Given the description of an element on the screen output the (x, y) to click on. 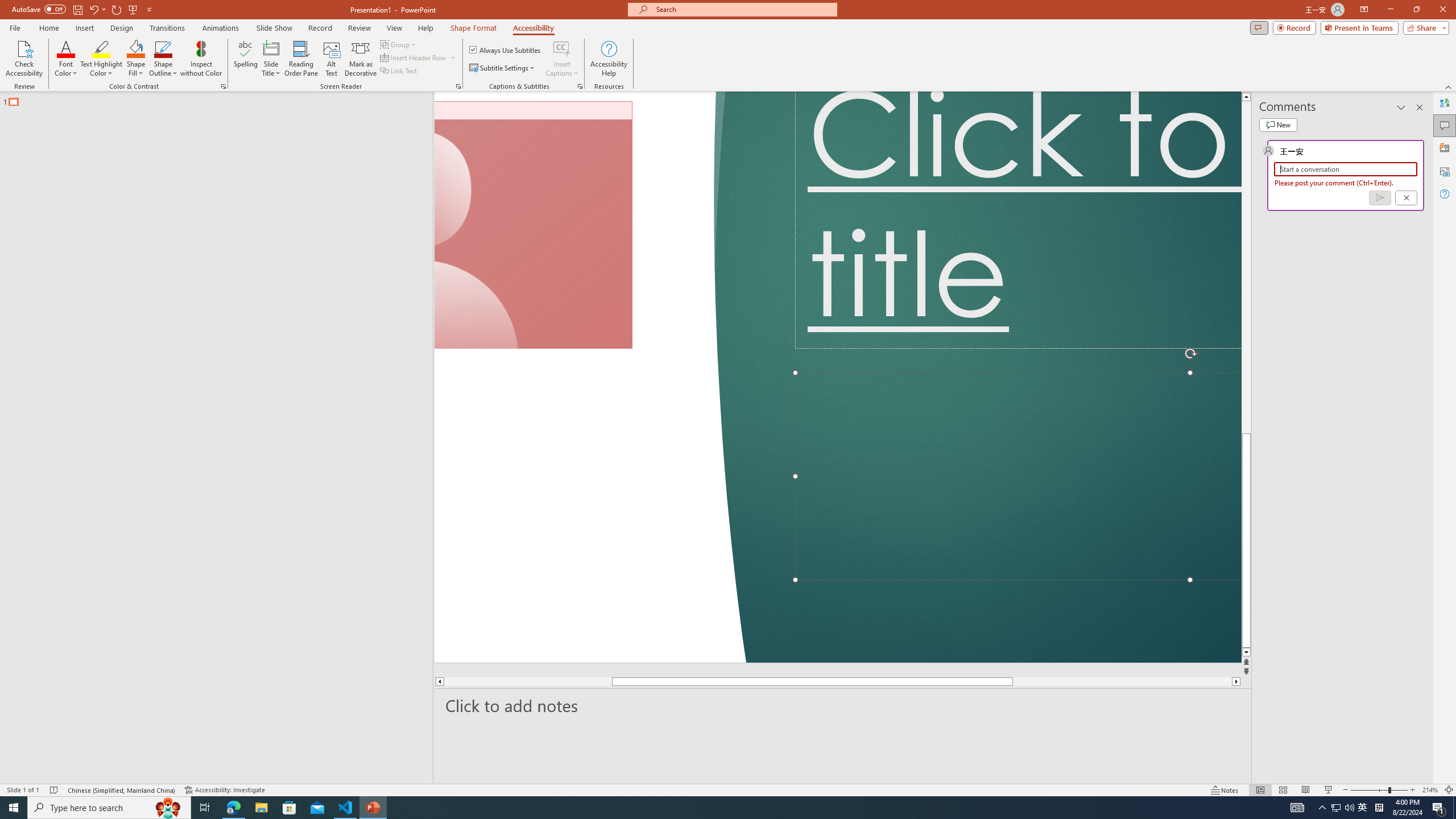
Start a conversation (1344, 168)
Subtitle TextBox (1017, 476)
Insert Header Row (413, 56)
Page down (1047, 681)
Shape Format (473, 28)
